Given the description of an element on the screen output the (x, y) to click on. 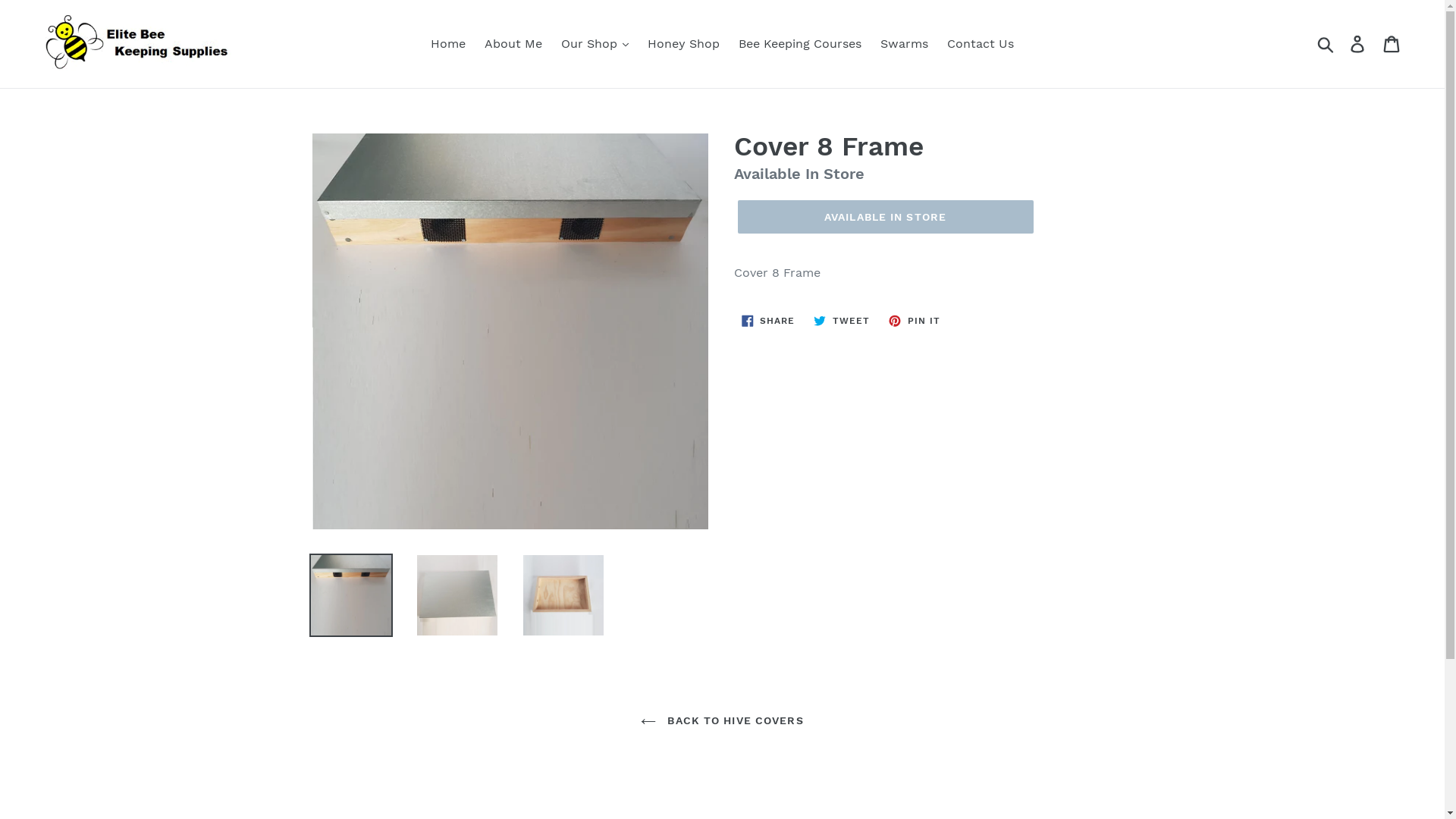
BACK TO HIVE COVERS Element type: text (721, 720)
SHARE
SHARE ON FACEBOOK Element type: text (768, 320)
Submit Element type: text (1326, 43)
Contact Us Element type: text (980, 43)
Honey Shop Element type: text (683, 43)
About Me Element type: text (512, 43)
Home Element type: text (448, 43)
PIN IT
PIN ON PINTEREST Element type: text (914, 320)
Log in Element type: text (1358, 44)
Bee Keeping Courses Element type: text (800, 43)
TWEET
TWEET ON TWITTER Element type: text (841, 320)
Cart Element type: text (1392, 44)
AVAILABLE IN STORE Element type: text (884, 216)
Swarms Element type: text (903, 43)
